Given the description of an element on the screen output the (x, y) to click on. 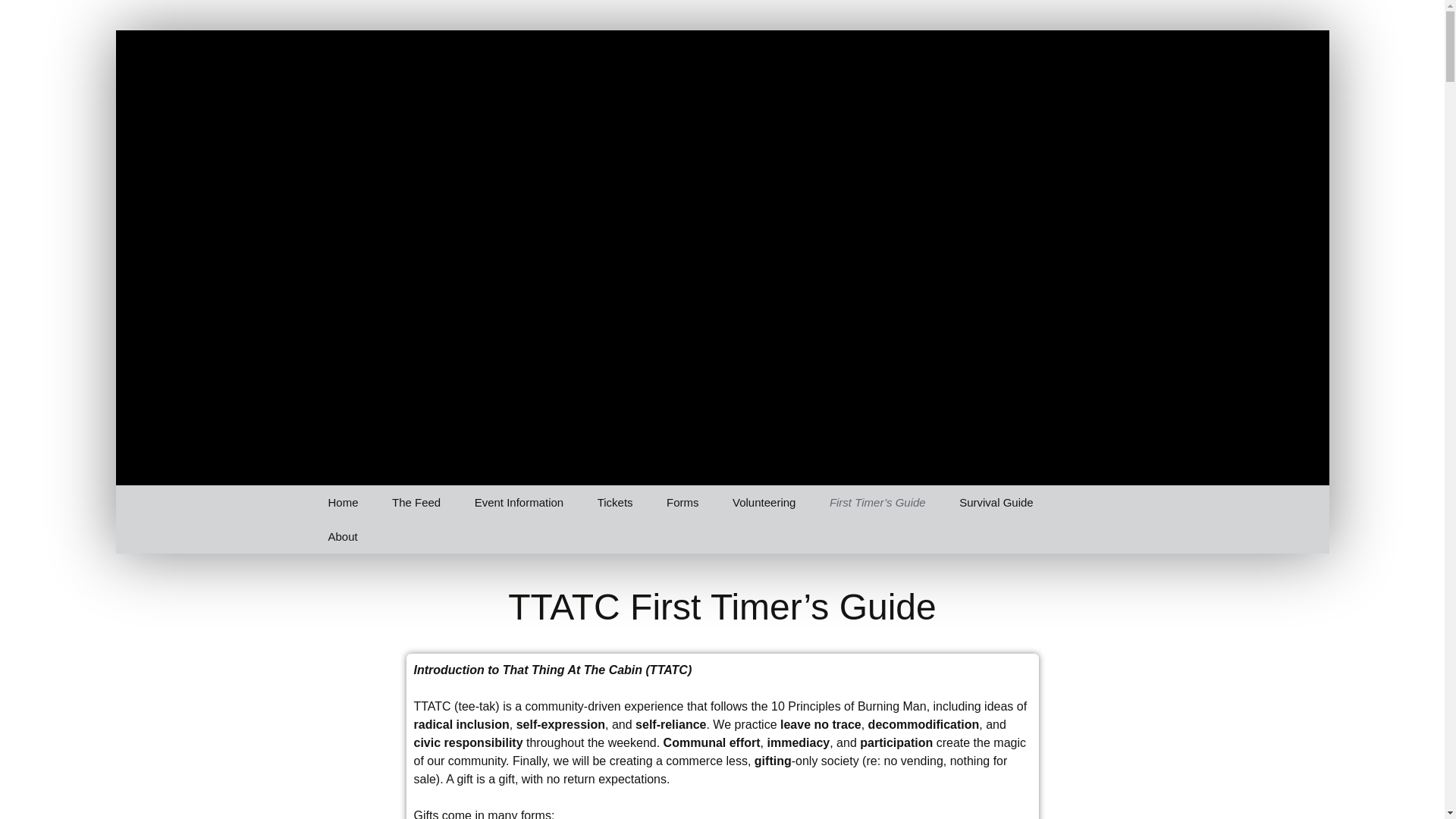
Forms (682, 502)
Volunteering (763, 502)
Home (342, 502)
The Feed (416, 502)
Volunteer Roles (793, 536)
Tickets (614, 502)
Search (18, 15)
Survival Guide (995, 502)
Event Information (519, 502)
About (342, 536)
TTATC Code of Conduct (388, 575)
